Given the description of an element on the screen output the (x, y) to click on. 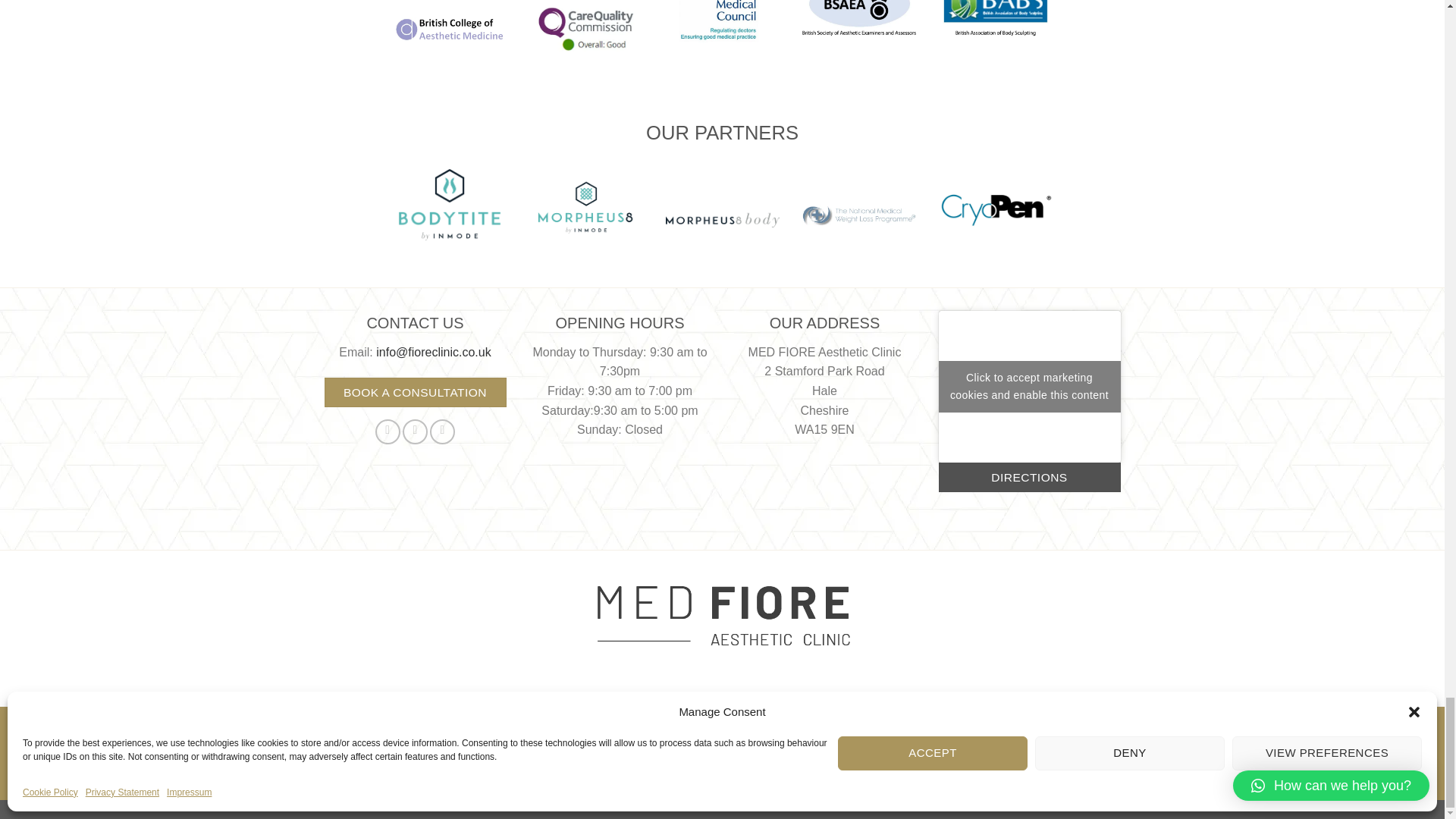
Follow on Facebook (387, 431)
